Given the description of an element on the screen output the (x, y) to click on. 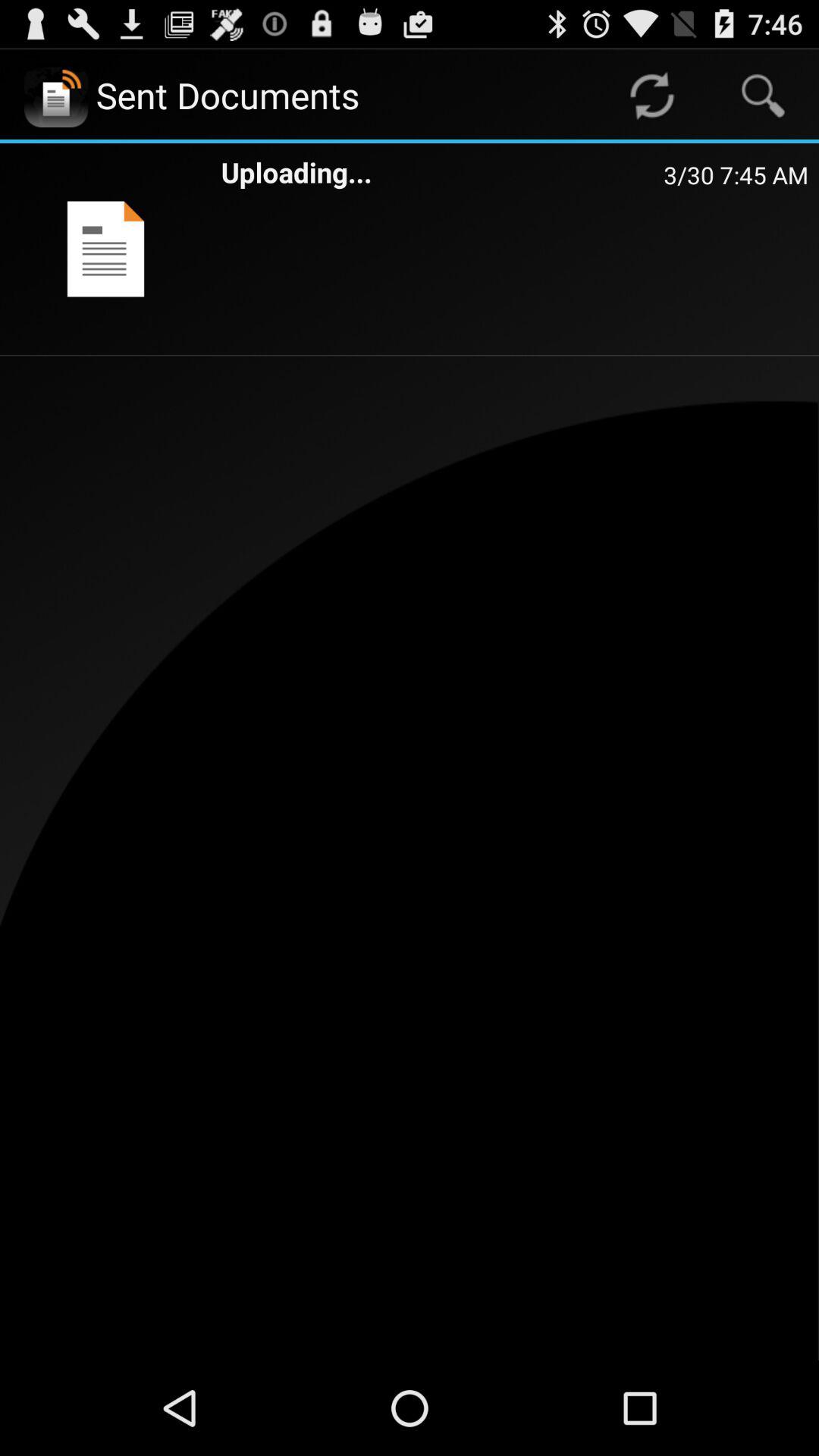
click the uploading... at the top (442, 172)
